Given the description of an element on the screen output the (x, y) to click on. 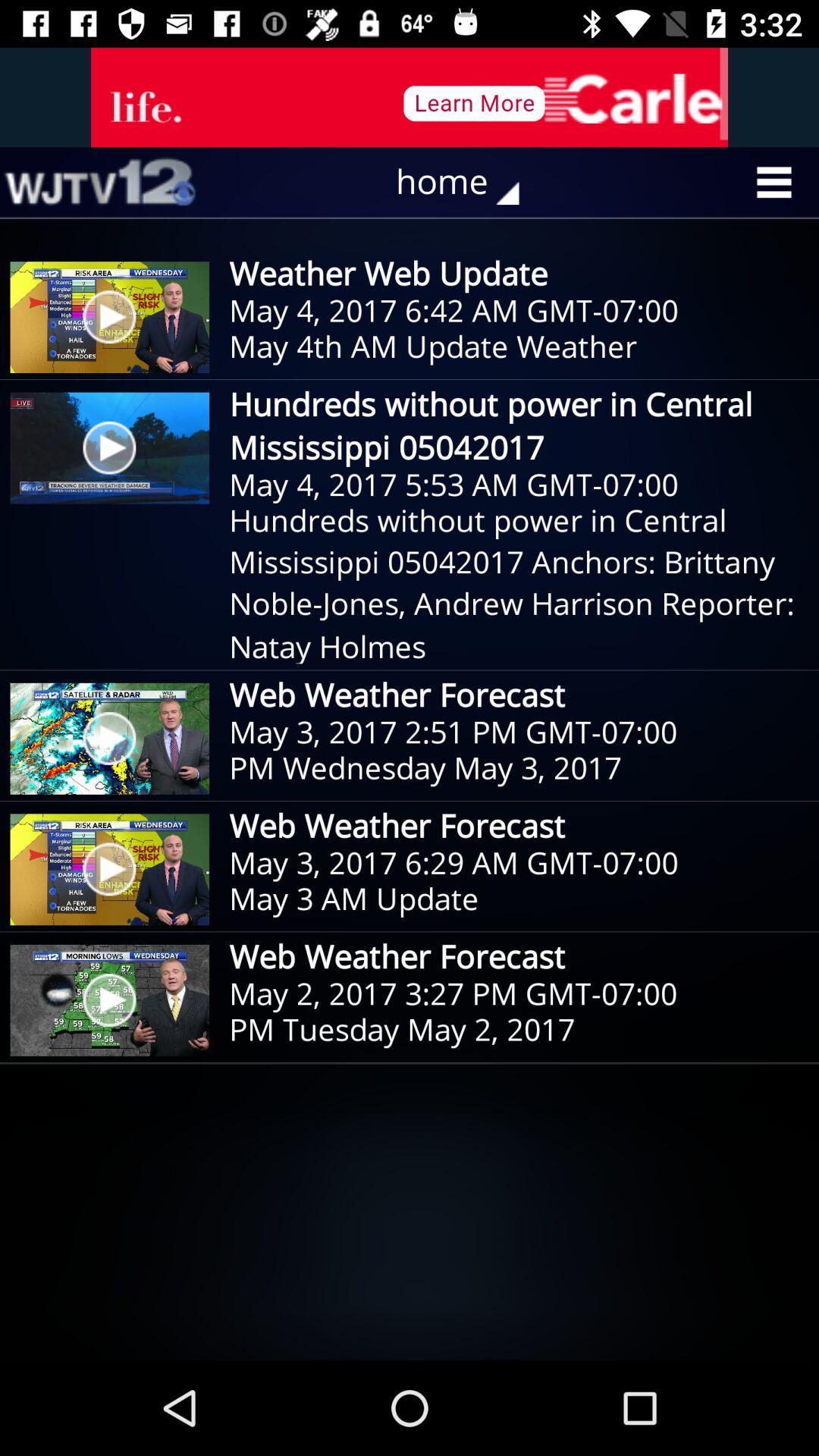
turn on item to the left of the home (99, 182)
